Given the description of an element on the screen output the (x, y) to click on. 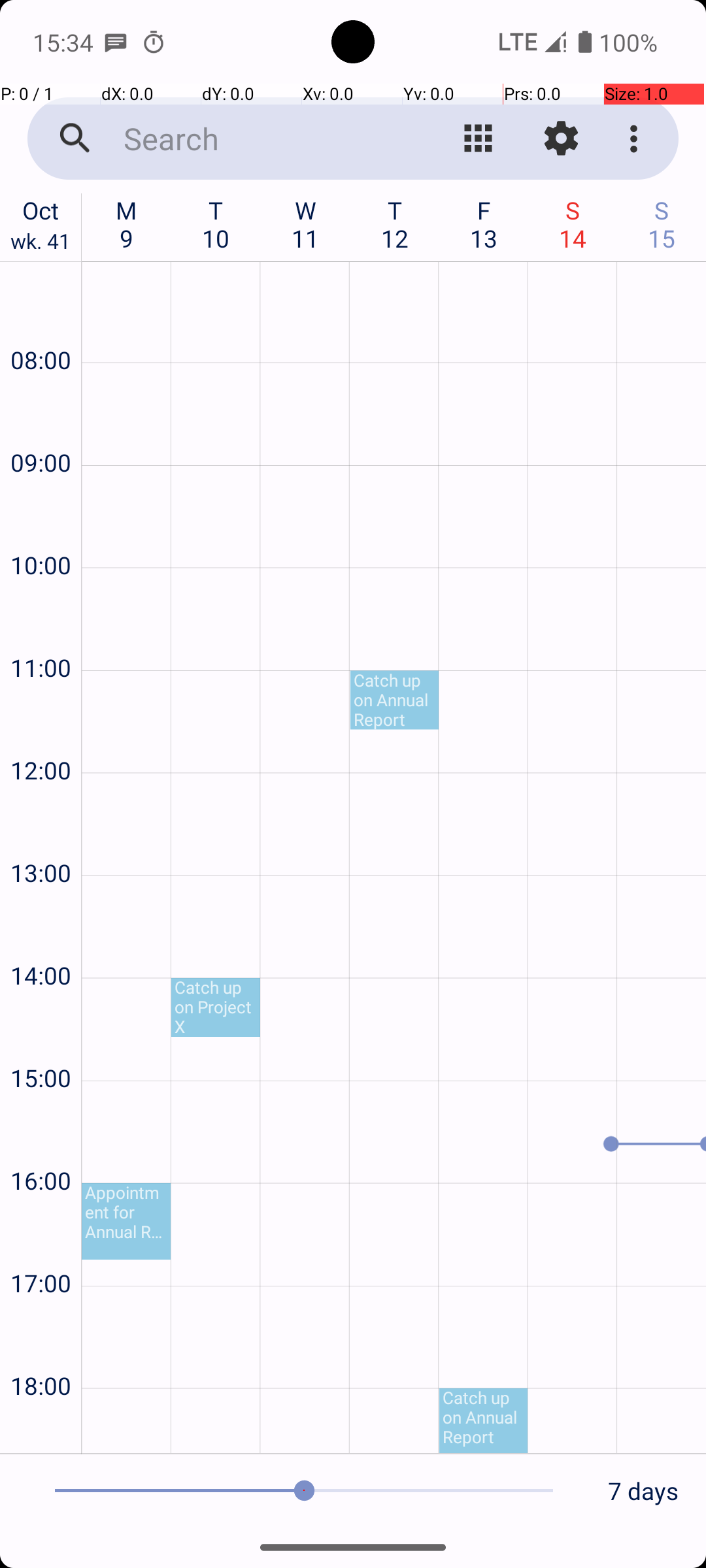
wk. 41 Element type: android.widget.TextView (40, 243)
7 days Element type: android.widget.TextView (642, 1490)
10:00 Element type: android.widget.TextView (40, 529)
14:00 Element type: android.widget.TextView (40, 940)
15:00 Element type: android.widget.TextView (40, 1042)
19:00 Element type: android.widget.TextView (40, 1428)
M
9 Element type: android.widget.TextView (126, 223)
T
10 Element type: android.widget.TextView (215, 223)
W
11 Element type: android.widget.TextView (305, 223)
T
12 Element type: android.widget.TextView (394, 223)
F
13 Element type: android.widget.TextView (483, 223)
S
14 Element type: android.widget.TextView (572, 223)
S
15 Element type: android.widget.TextView (661, 223)
Appointment for Annual Report Element type: android.widget.TextView (125, 1221)
